Given the description of an element on the screen output the (x, y) to click on. 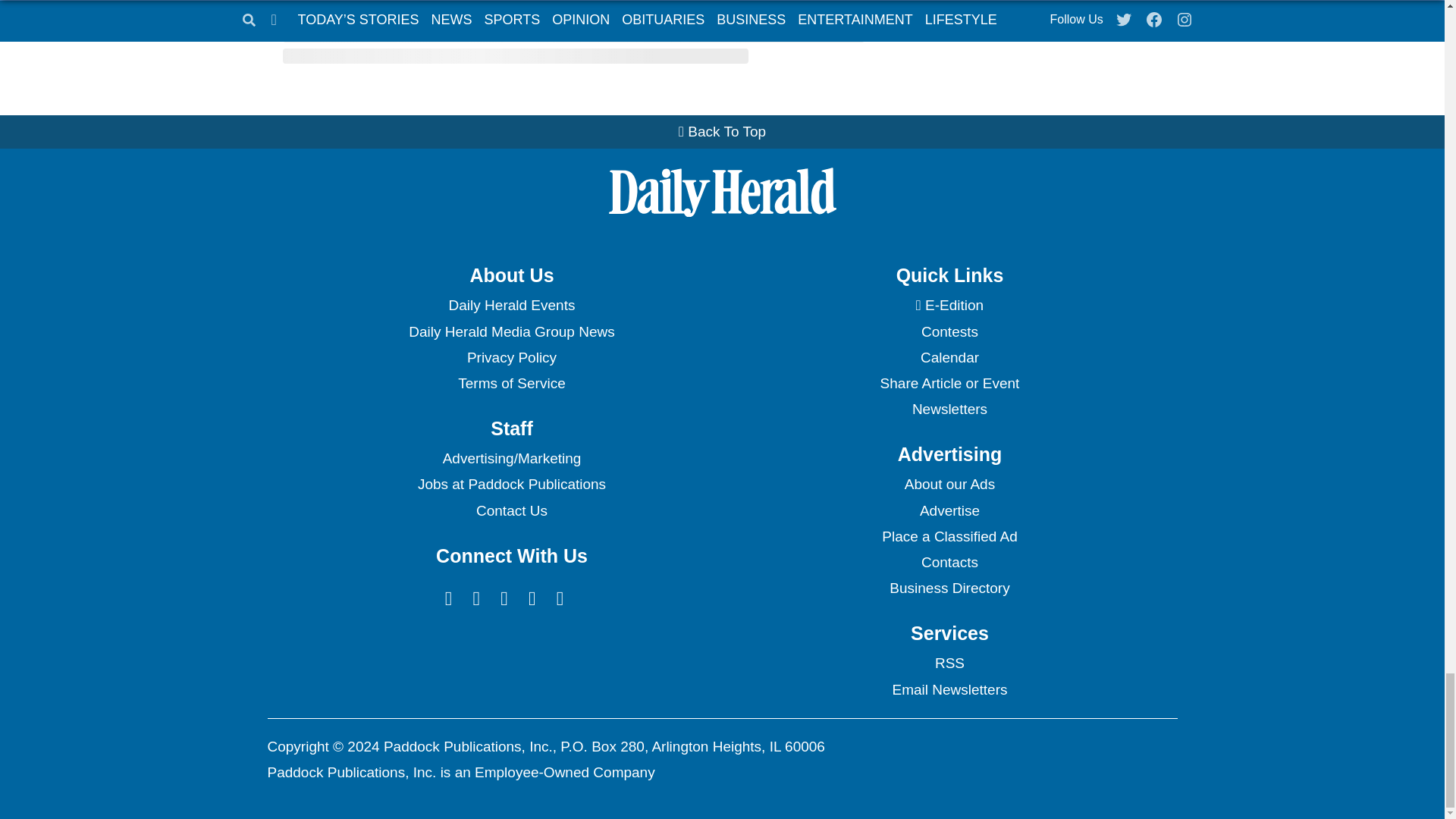
Terms of Service (511, 383)
Privacy Policy (511, 357)
Daily Herald Events (511, 305)
Jobs at Paddock Publications (511, 484)
Daily Herald Media Group News (511, 331)
